Given the description of an element on the screen output the (x, y) to click on. 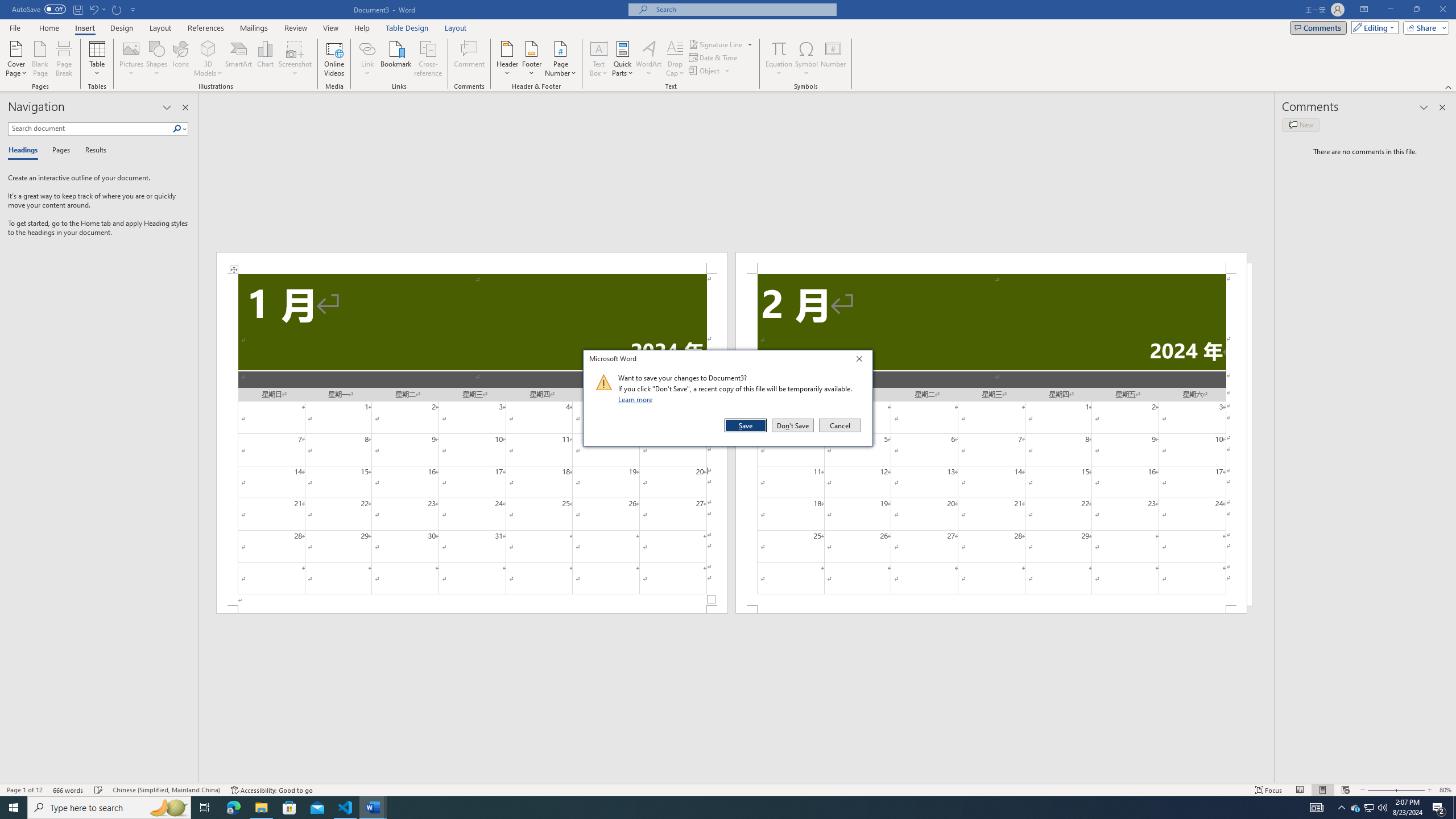
Number... (833, 58)
File Explorer - 1 running window (261, 807)
Word - 2 running windows (373, 807)
Page Number (560, 58)
Drop Cap (674, 58)
Header (507, 58)
